Given the description of an element on the screen output the (x, y) to click on. 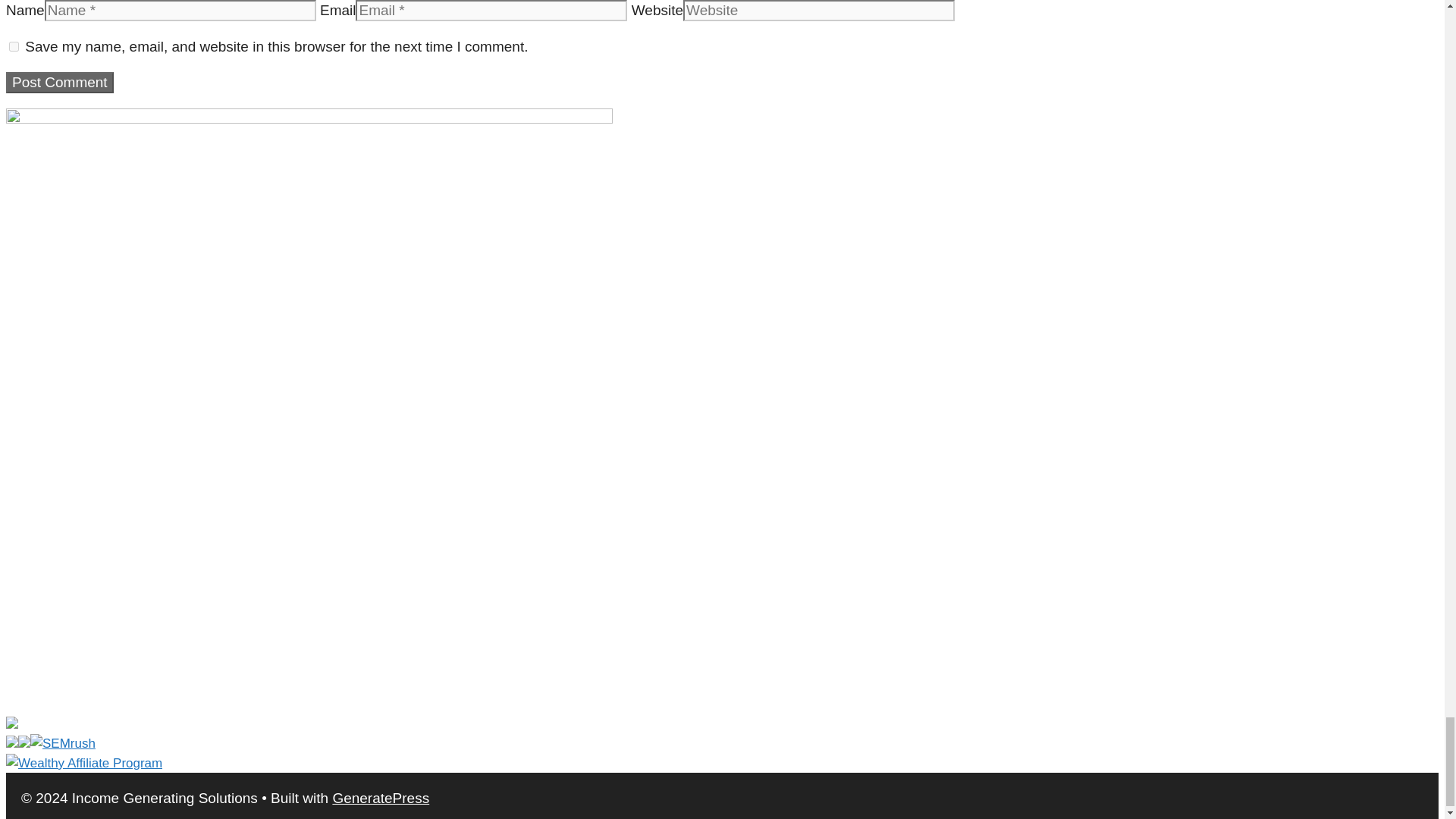
Post Comment (59, 82)
yes (13, 46)
GeneratePress (380, 797)
SEMrush (50, 743)
Post Comment (59, 82)
